Given the description of an element on the screen output the (x, y) to click on. 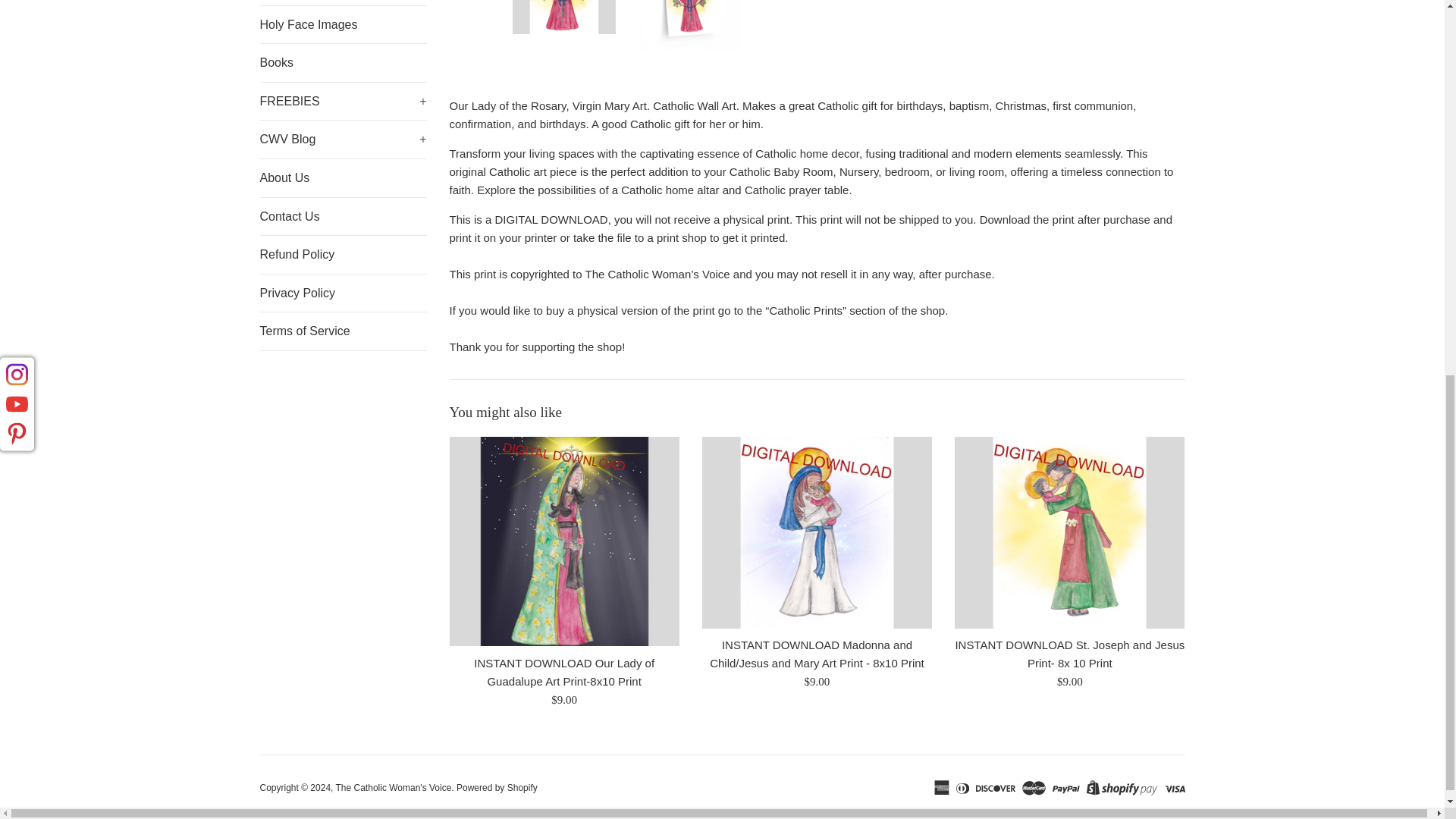
Contact Us (342, 216)
INSTANT DOWNLOAD St. Joseph and Jesus Print- 8x 10 Print (1070, 532)
Terms of Service (342, 331)
Books (342, 62)
Privacy Policy (342, 293)
Holy Face Images (342, 24)
Refund Policy (342, 254)
Catholic Classroom Posters (342, 2)
INSTANT DOWNLOAD Our Lady of Guadalupe Art Print-8x10 Print (563, 541)
About Us (342, 177)
